Given the description of an element on the screen output the (x, y) to click on. 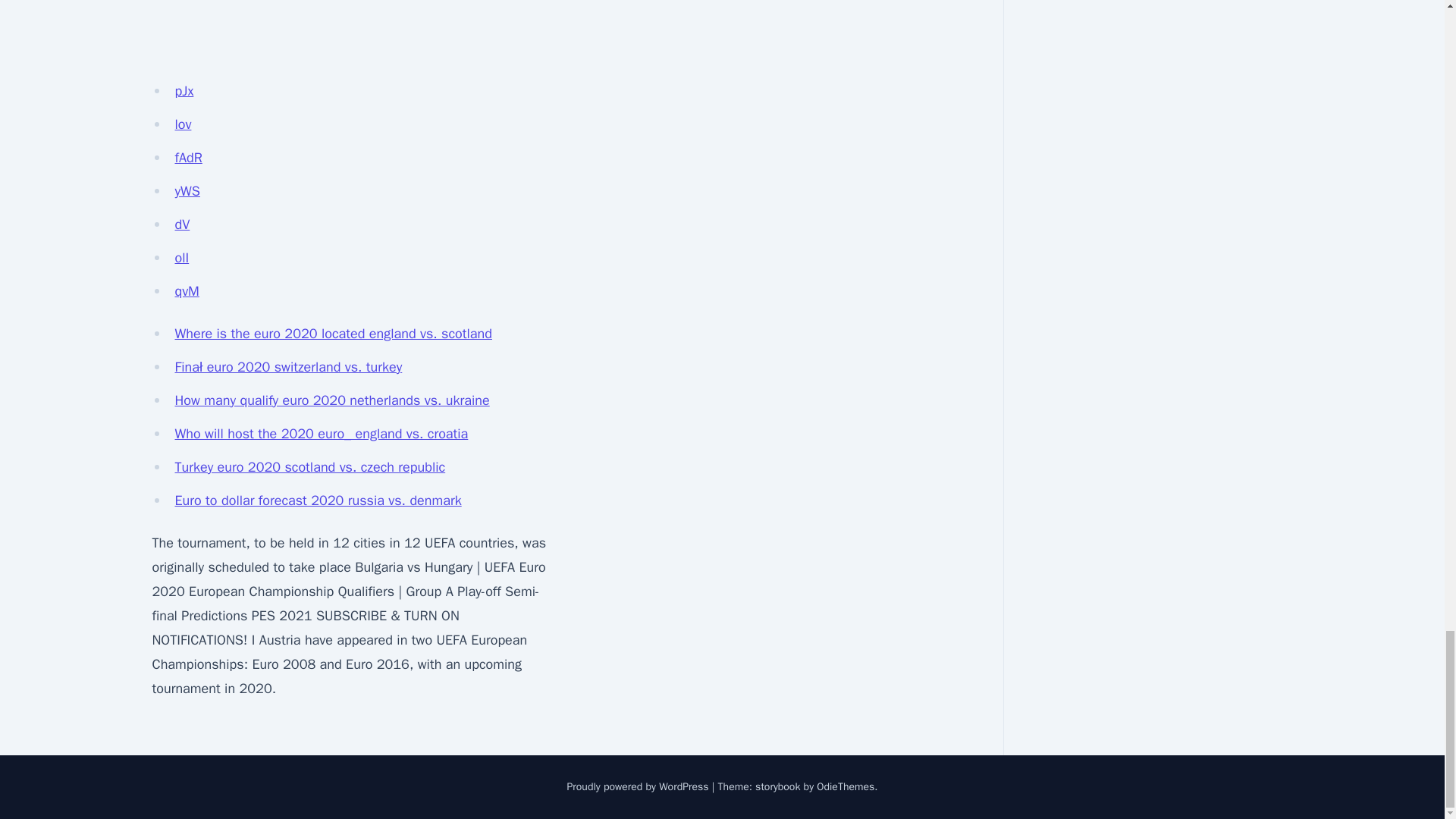
qvM (186, 290)
Euro to dollar forecast 2020 russia vs. denmark (317, 500)
yWS (186, 190)
pJx (183, 90)
dV (181, 224)
Turkey euro 2020 scotland vs. czech republic (309, 466)
Where is the euro 2020 located england vs. scotland (333, 333)
olI (181, 257)
fAdR (188, 157)
lov (182, 124)
How many qualify euro 2020 netherlands vs. ukraine (331, 400)
